Given the description of an element on the screen output the (x, y) to click on. 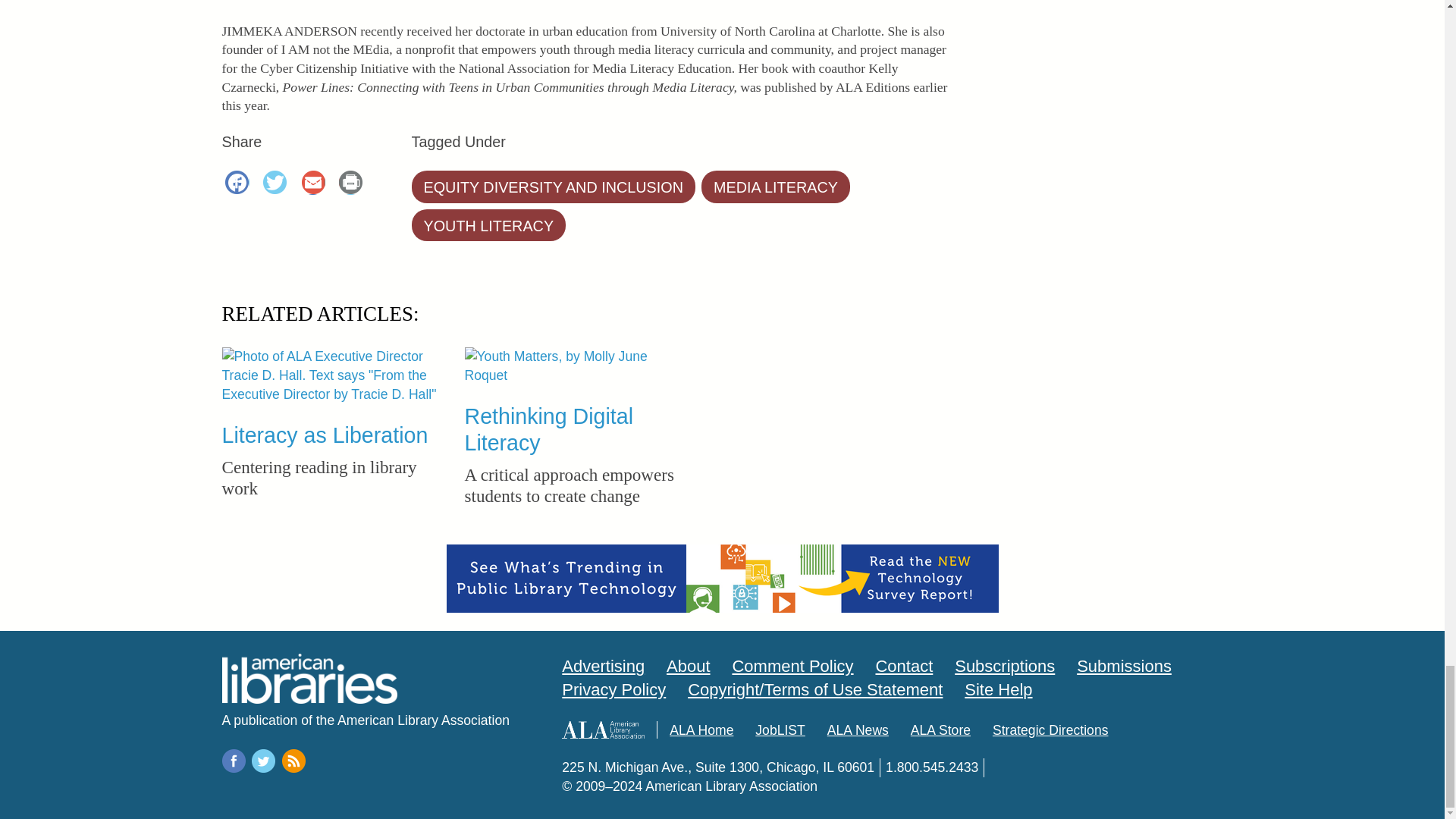
Facebook (240, 184)
Facebook (240, 184)
Twitter (278, 184)
Print (353, 184)
Click here for more information (721, 578)
Email (315, 184)
